Given the description of an element on the screen output the (x, y) to click on. 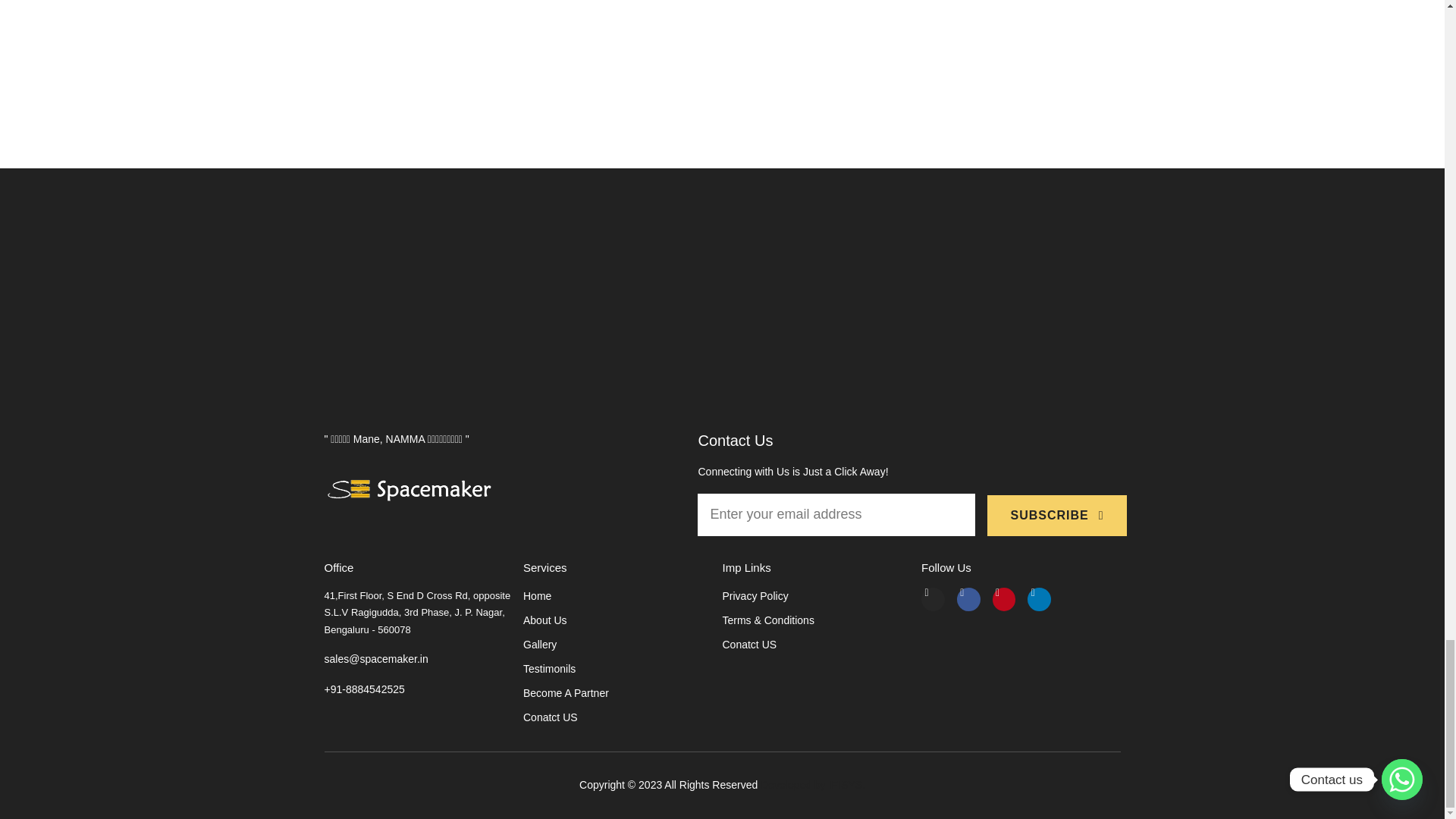
SUBSCRIBE (1056, 515)
Gallery (622, 645)
Conatct US (622, 718)
Home (622, 597)
Testimonils (622, 669)
Become A Partner (622, 693)
About Us (622, 620)
